Given the description of an element on the screen output the (x, y) to click on. 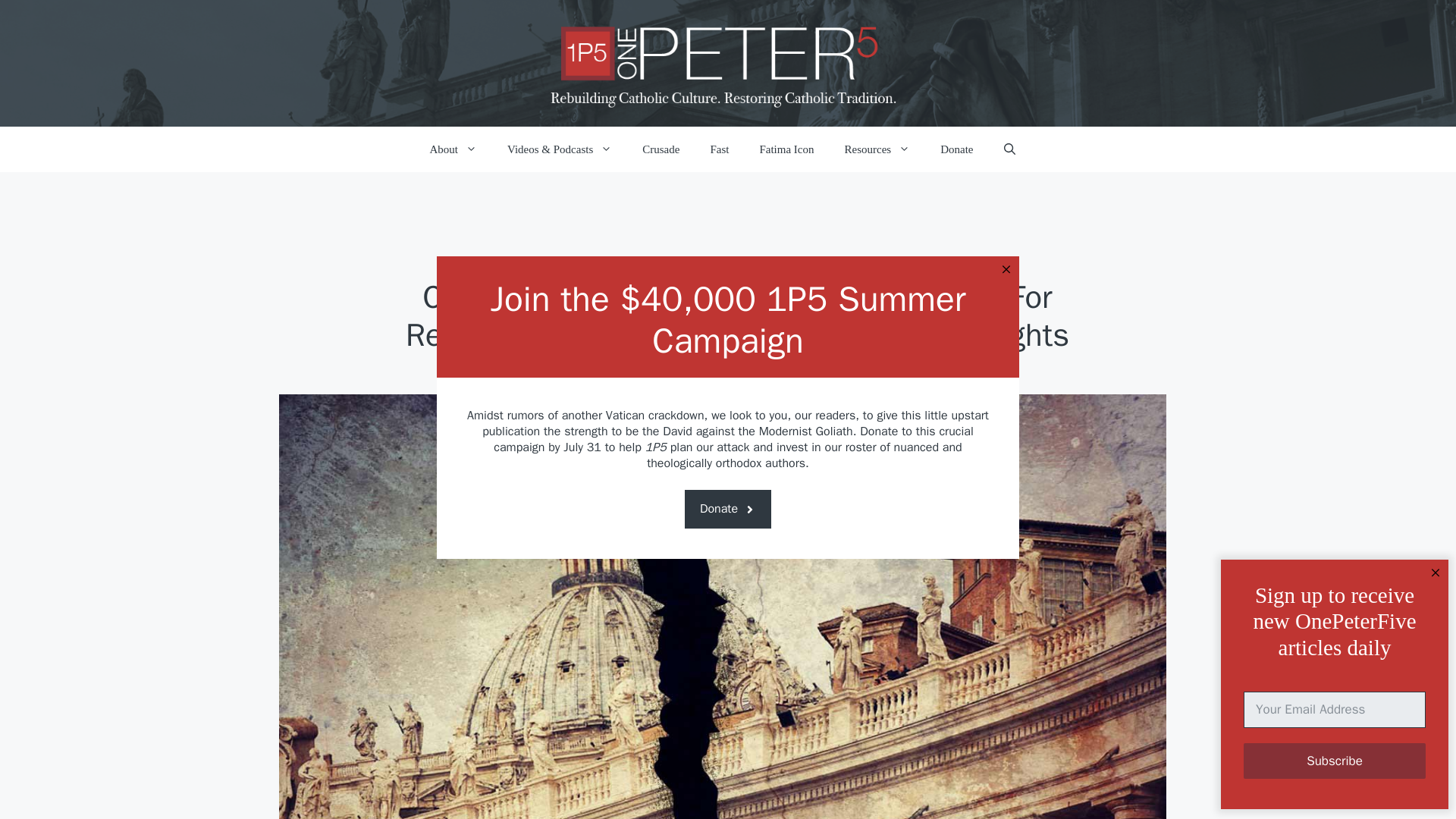
Posts by  Steve Skojec (664, 419)
Posts by  Steve Skojec (704, 419)
About (452, 148)
